Given the description of an element on the screen output the (x, y) to click on. 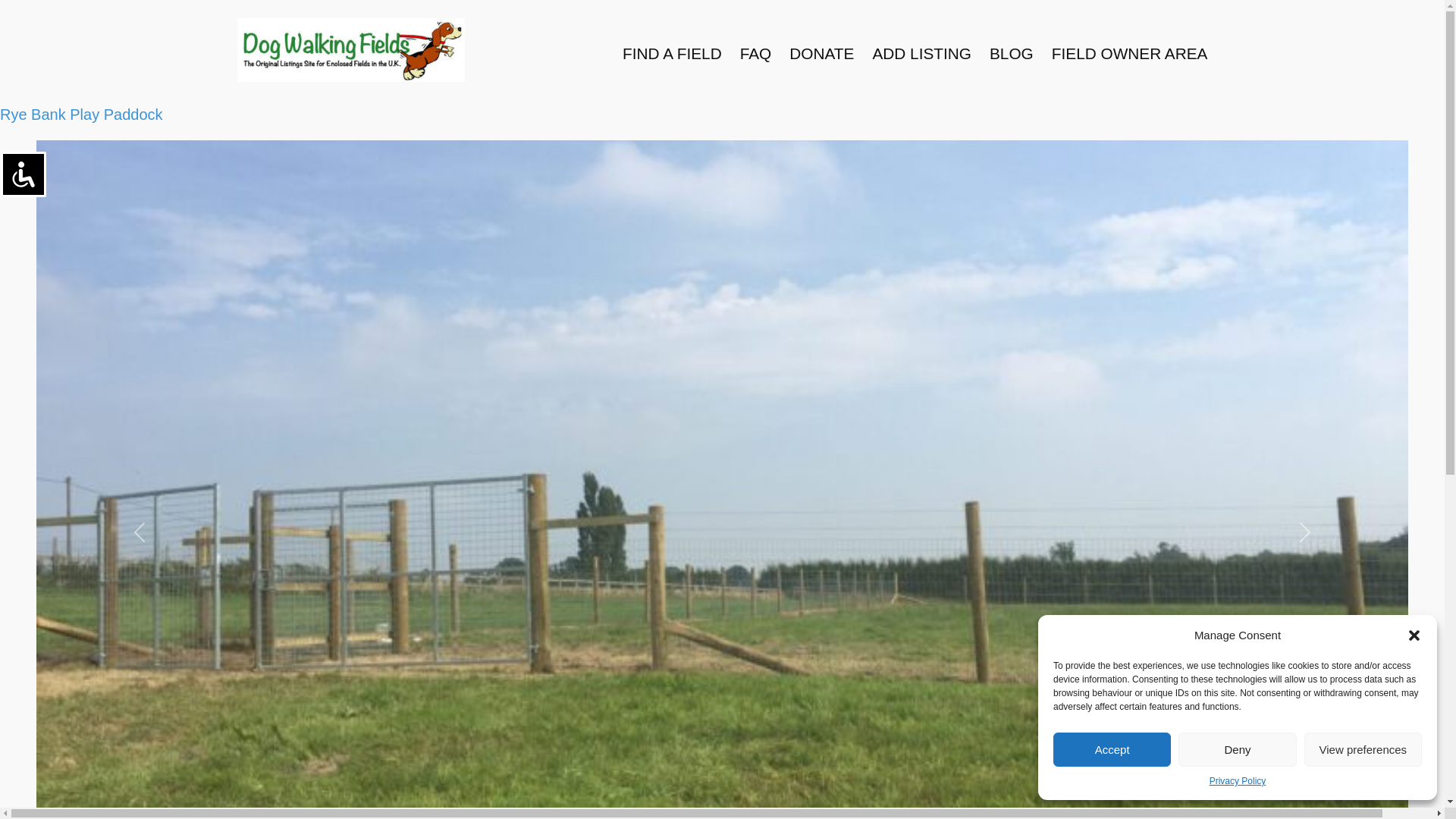
View preferences (1363, 749)
Privacy Policy (1237, 780)
View: Rye Bank Play Paddock (81, 114)
DONATE (821, 53)
ADD LISTING (921, 53)
Rye Bank Play Paddock (81, 114)
Accept (1111, 749)
BLOG (1011, 53)
FIND A FIELD (672, 53)
Deny (1236, 749)
FAQ (755, 53)
FIELD OWNER AREA (1129, 53)
